Given the description of an element on the screen output the (x, y) to click on. 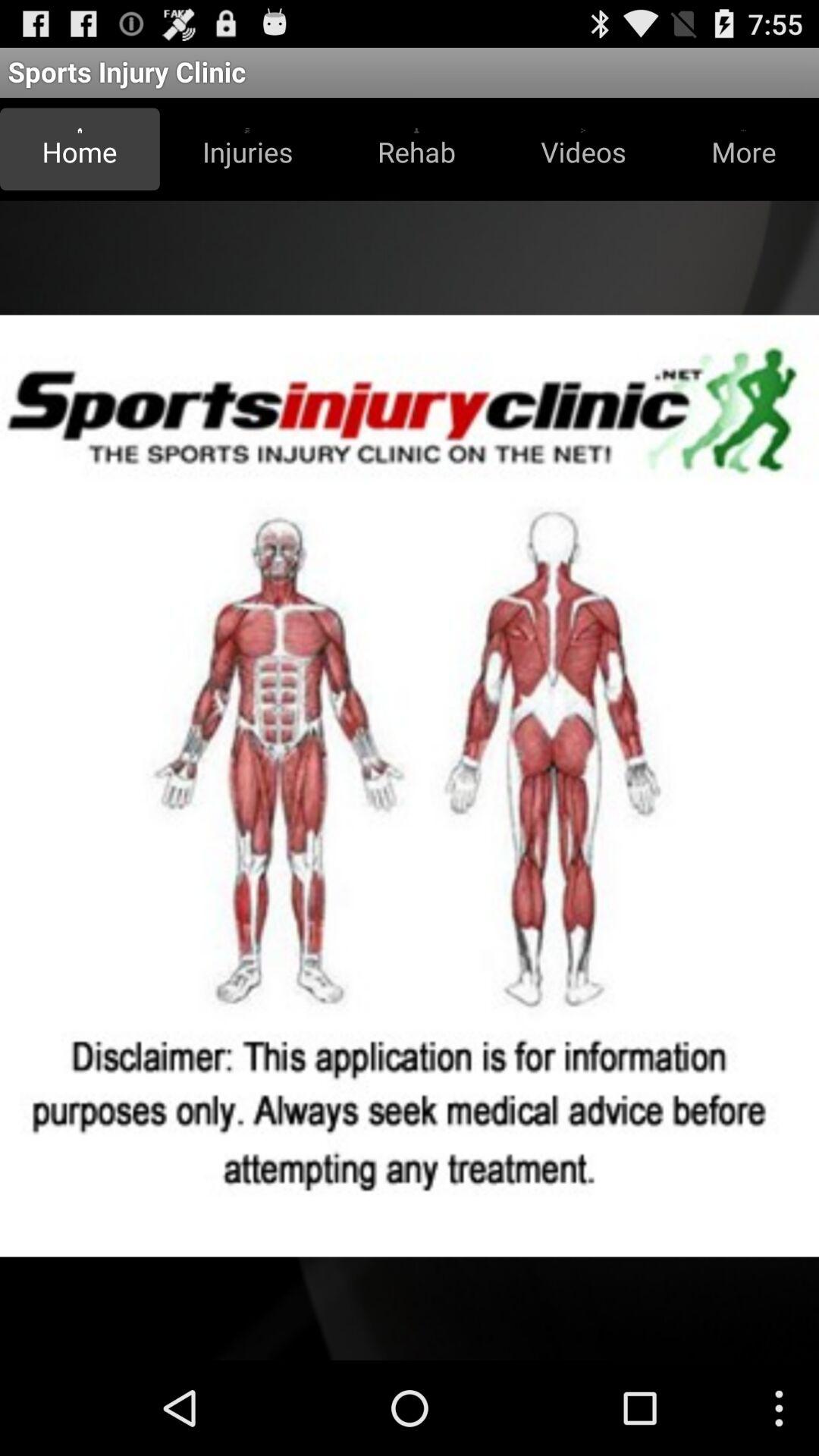
tap item to the right of home (246, 149)
